Given the description of an element on the screen output the (x, y) to click on. 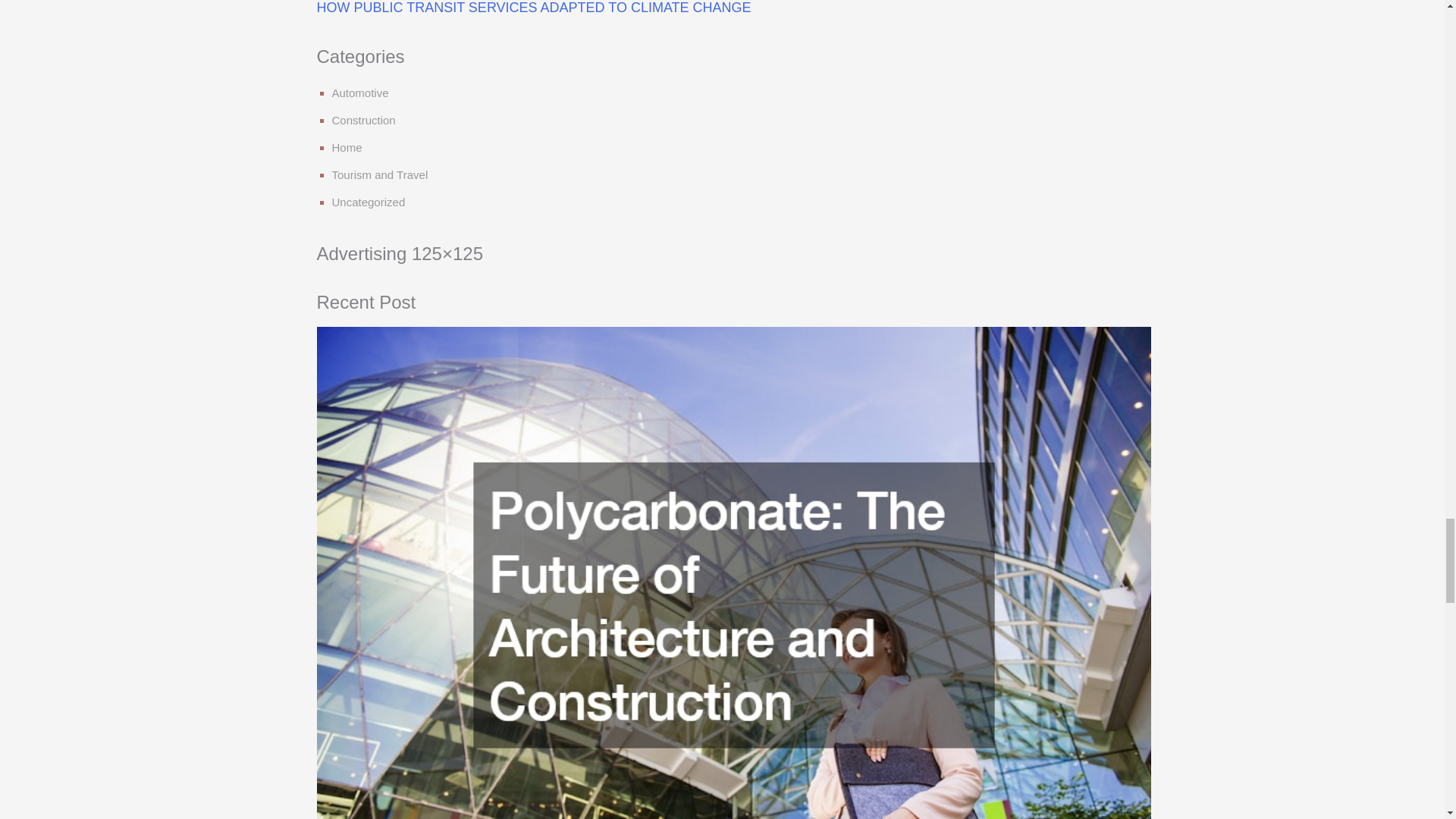
Home (346, 146)
Automotive (359, 92)
HOW PUBLIC TRANSIT SERVICES ADAPTED TO CLIMATE CHANGE (534, 7)
Tourism and Travel (379, 174)
Construction (363, 119)
Uncategorized (368, 201)
